Given the description of an element on the screen output the (x, y) to click on. 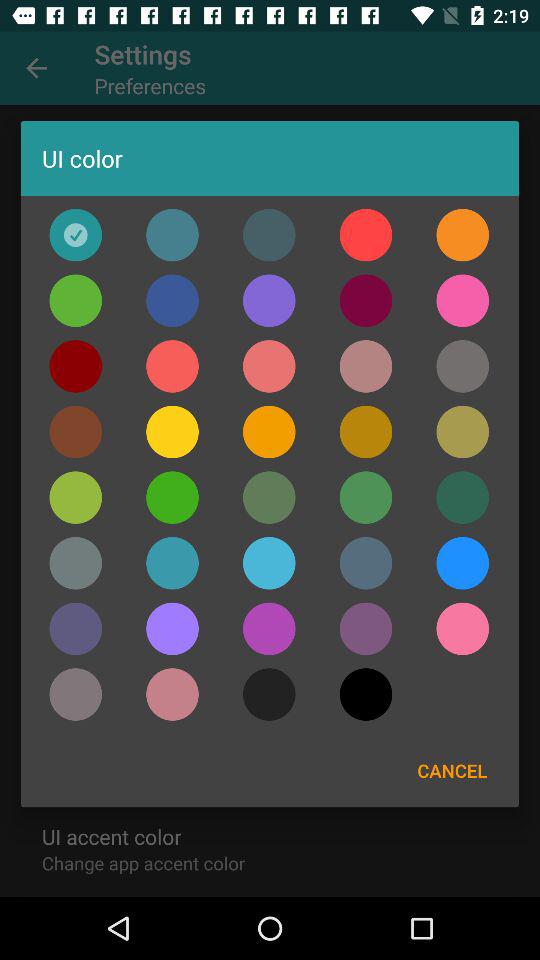
open the cancel (452, 770)
